Given the description of an element on the screen output the (x, y) to click on. 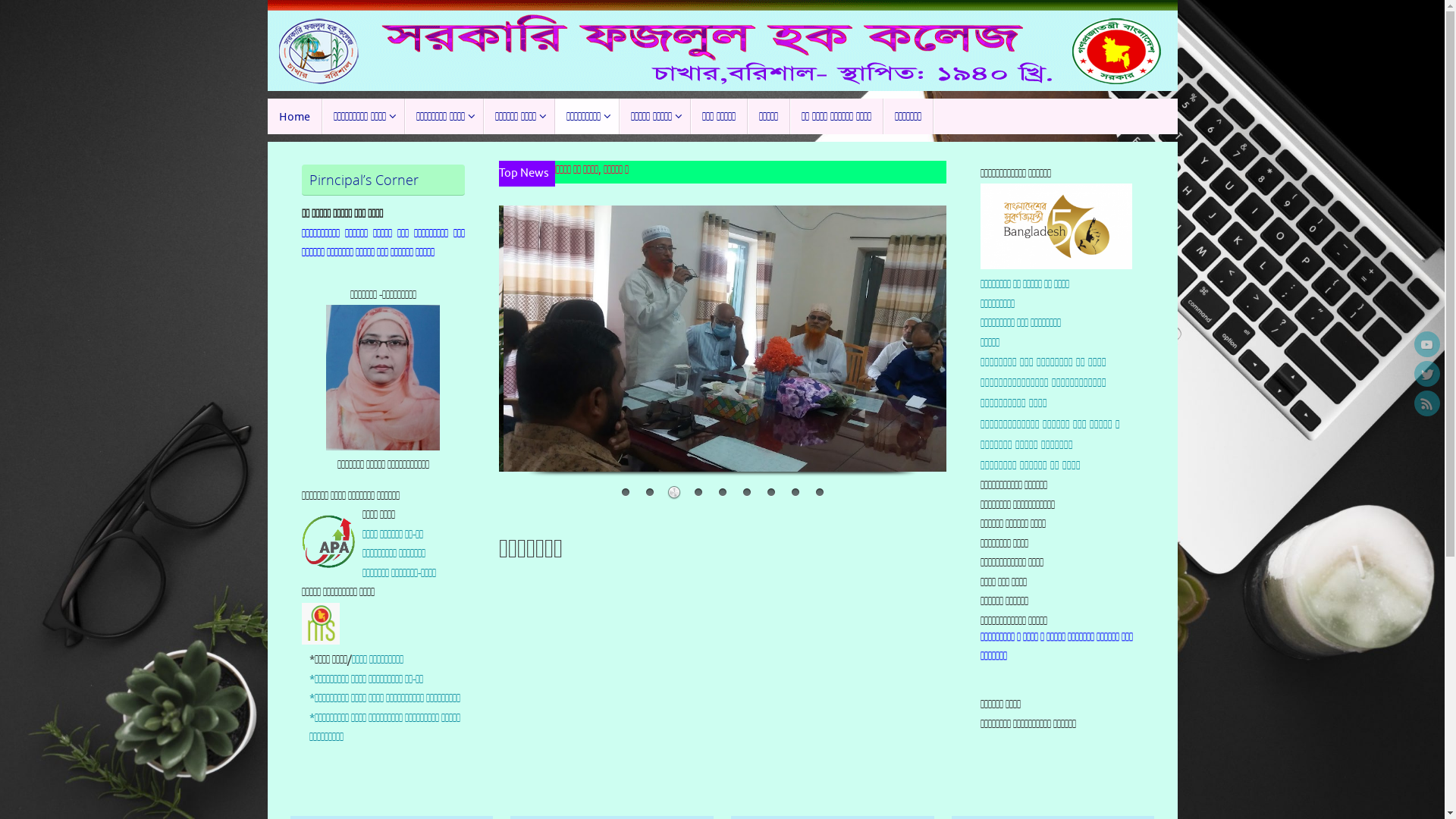
Home Element type: text (293, 116)
Twitter Element type: hover (1427, 373)
Skip to content Element type: text (266, 121)
YouTube Element type: hover (1427, 344)
RSS Element type: hover (1427, 403)
